Given the description of an element on the screen output the (x, y) to click on. 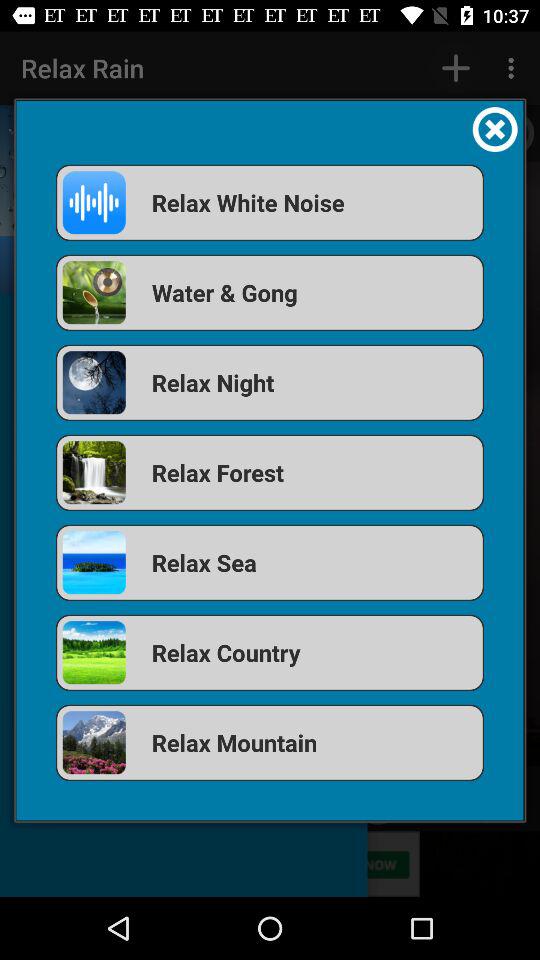
press icon below the relax country icon (269, 742)
